Given the description of an element on the screen output the (x, y) to click on. 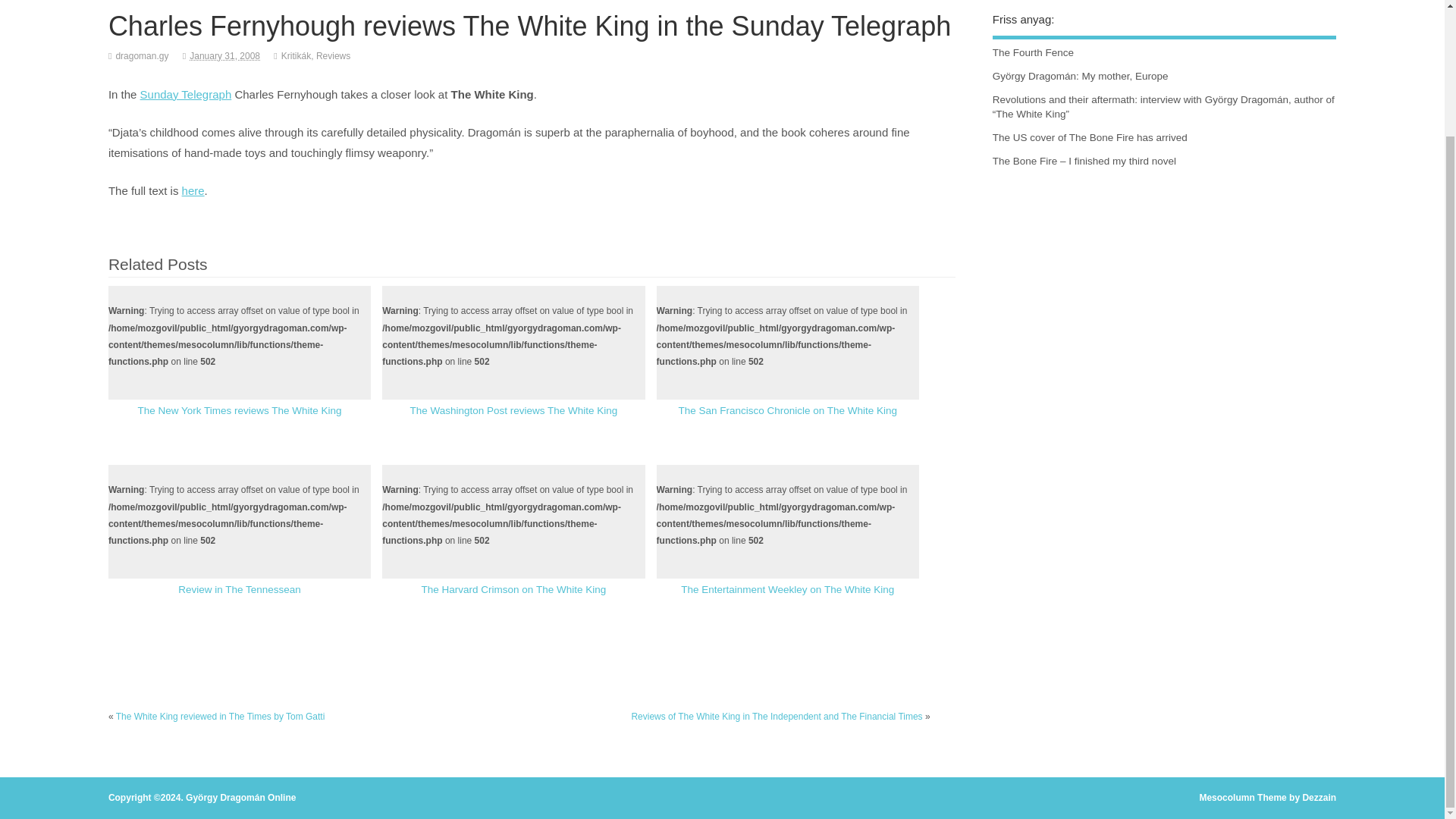
here (193, 190)
The Fourth Fence (1033, 52)
The San Francisco Chronicle on The White King (787, 410)
The San Francisco Chronicle on The White King (787, 410)
The White King reviewed in The Times by Tom Gatti (220, 716)
The Harvard Crimson on The White King (514, 589)
Reviews (332, 55)
The Entertainment Weekley on The White King (787, 589)
The New York Times reviews The White King (238, 410)
The Washington Post reviews The White King (513, 410)
The US cover of The Bone Fire has arrived (1090, 137)
Posts by dragoman.gy (141, 55)
The Harvard Crimson on The White King (514, 589)
Review in The Tennessean (239, 589)
